Given the description of an element on the screen output the (x, y) to click on. 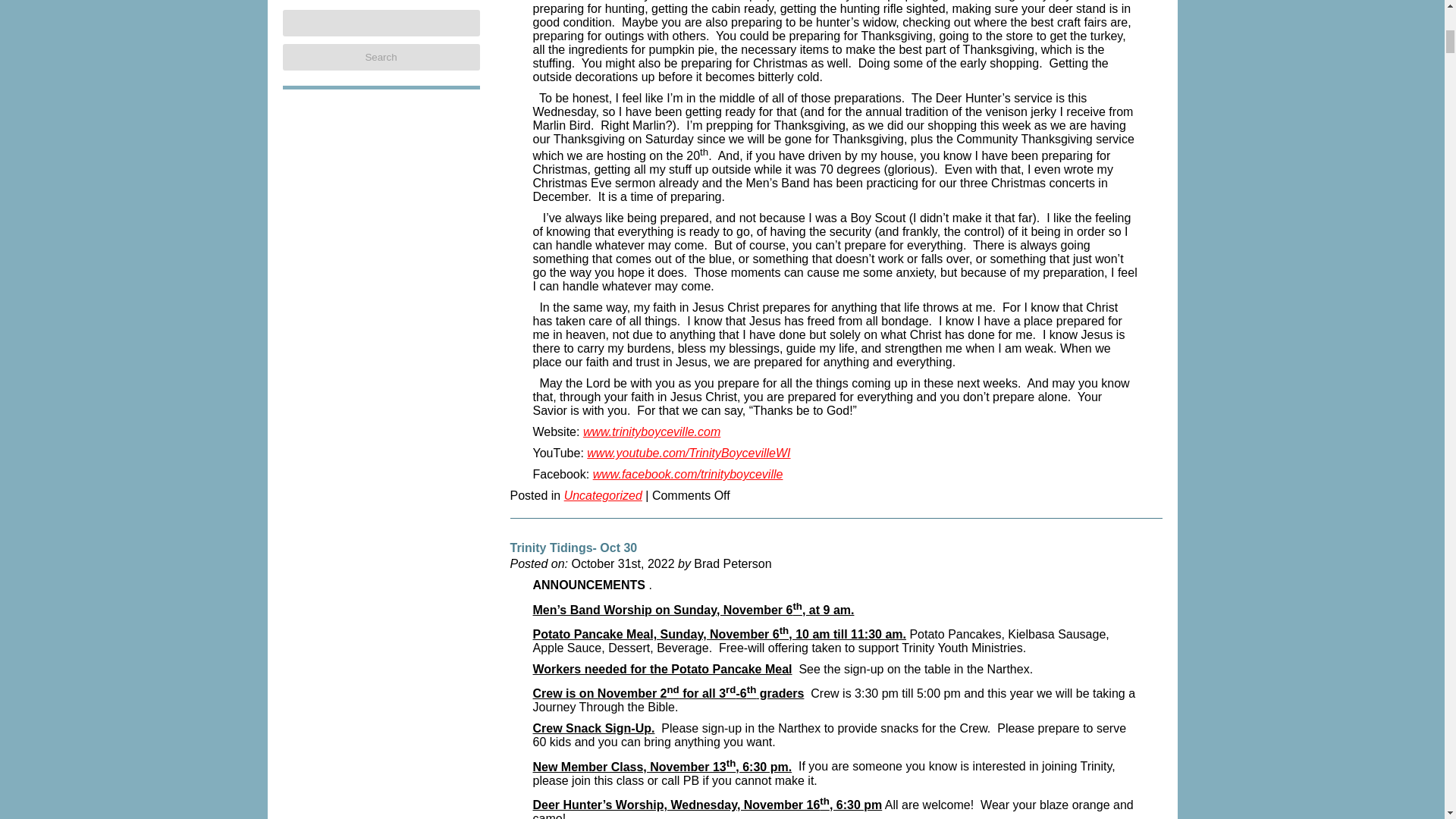
Trinity Tidings- Oct 30 (573, 550)
www.trinityboyceville.com (651, 434)
Uncategorized (603, 497)
Search (380, 57)
Search (380, 57)
